Given the description of an element on the screen output the (x, y) to click on. 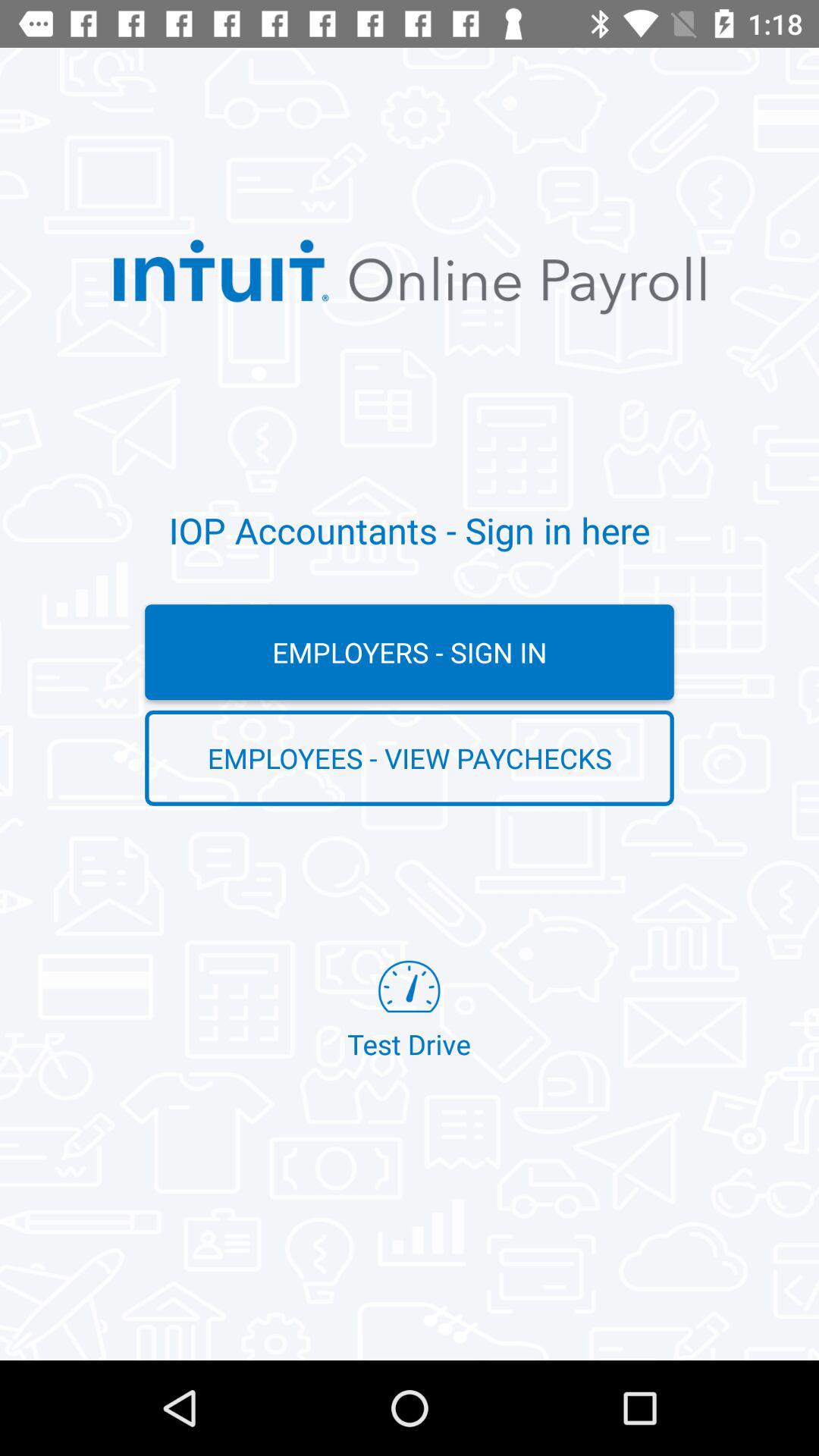
click test drive item (408, 1011)
